Given the description of an element on the screen output the (x, y) to click on. 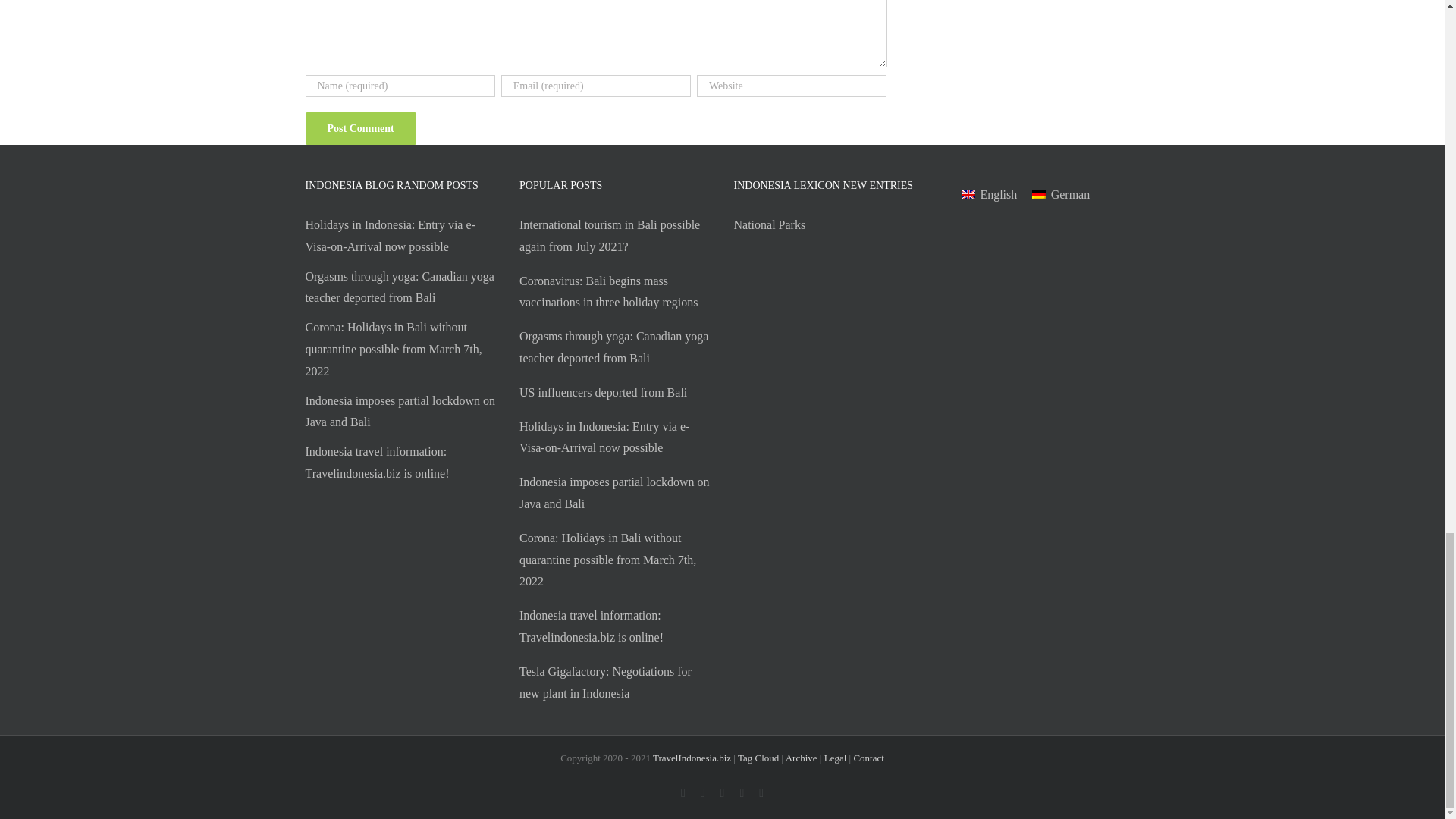
Tag Cloud (758, 757)
Legal (835, 757)
Post Comment (359, 128)
TravelIndonesia.biz (691, 757)
Archive (801, 757)
